Given the description of an element on the screen output the (x, y) to click on. 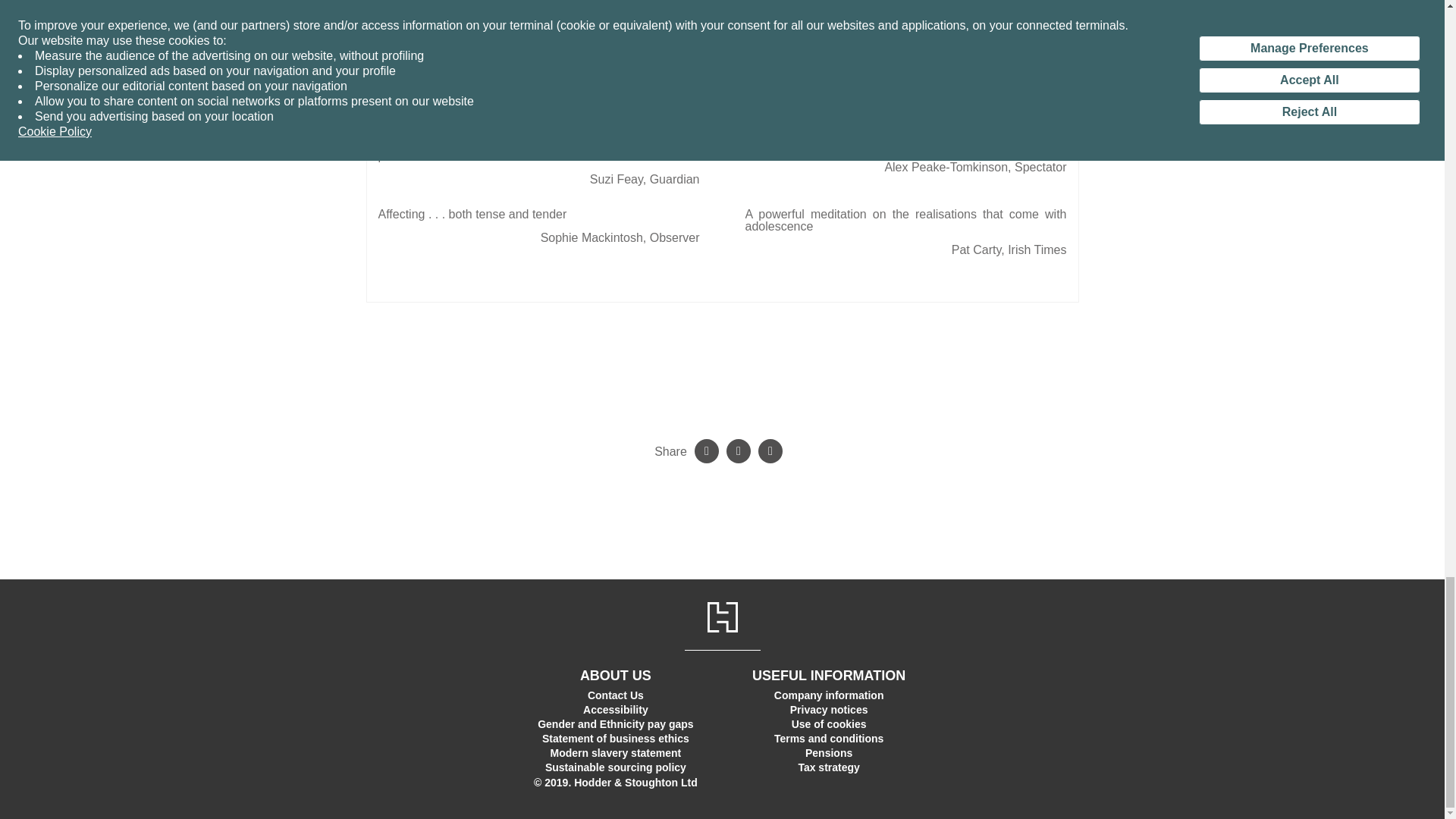
Hachette Logo Large H Initial (721, 616)
